Given the description of an element on the screen output the (x, y) to click on. 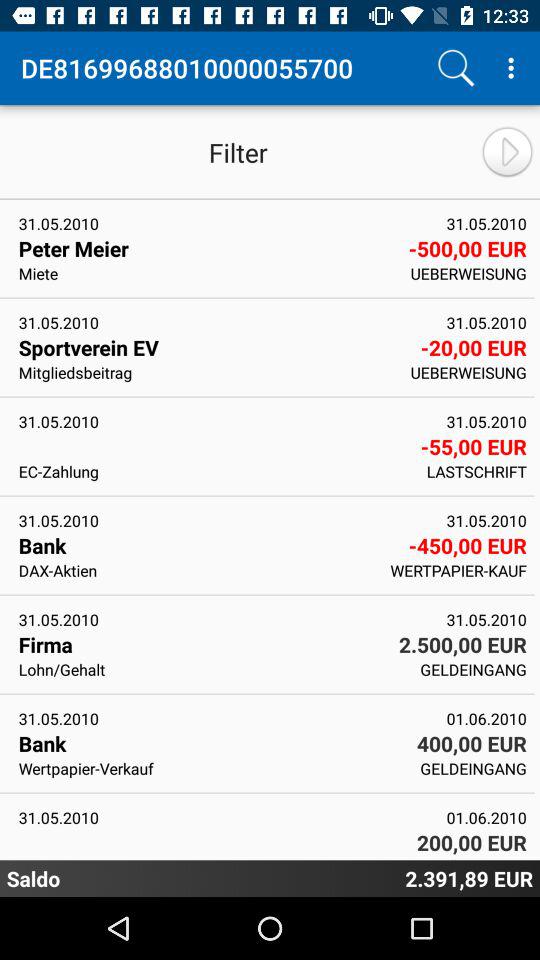
scroll to lastschrift icon (476, 471)
